Given the description of an element on the screen output the (x, y) to click on. 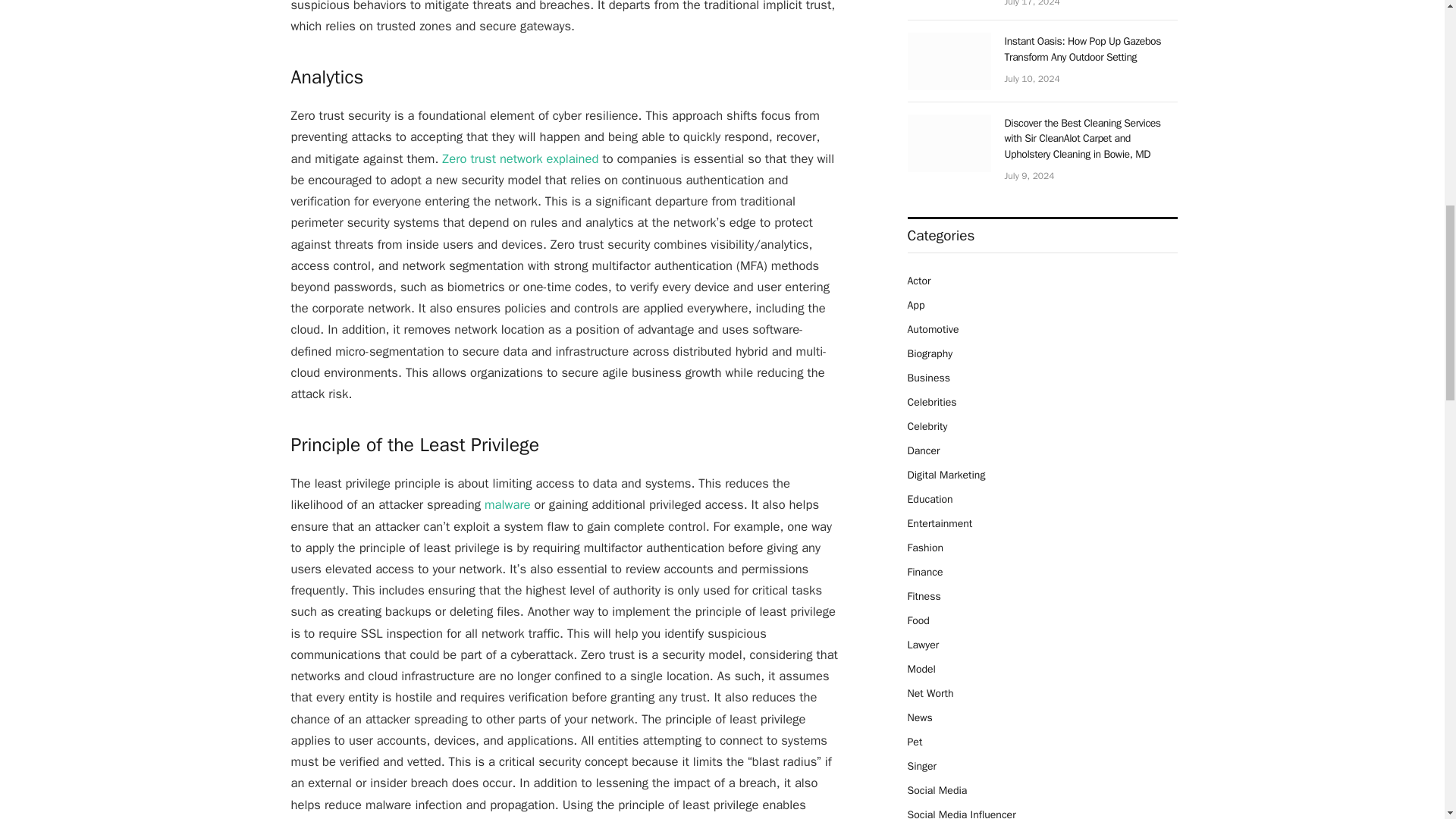
malware (505, 504)
Zero trust network explained (518, 158)
